Given the description of an element on the screen output the (x, y) to click on. 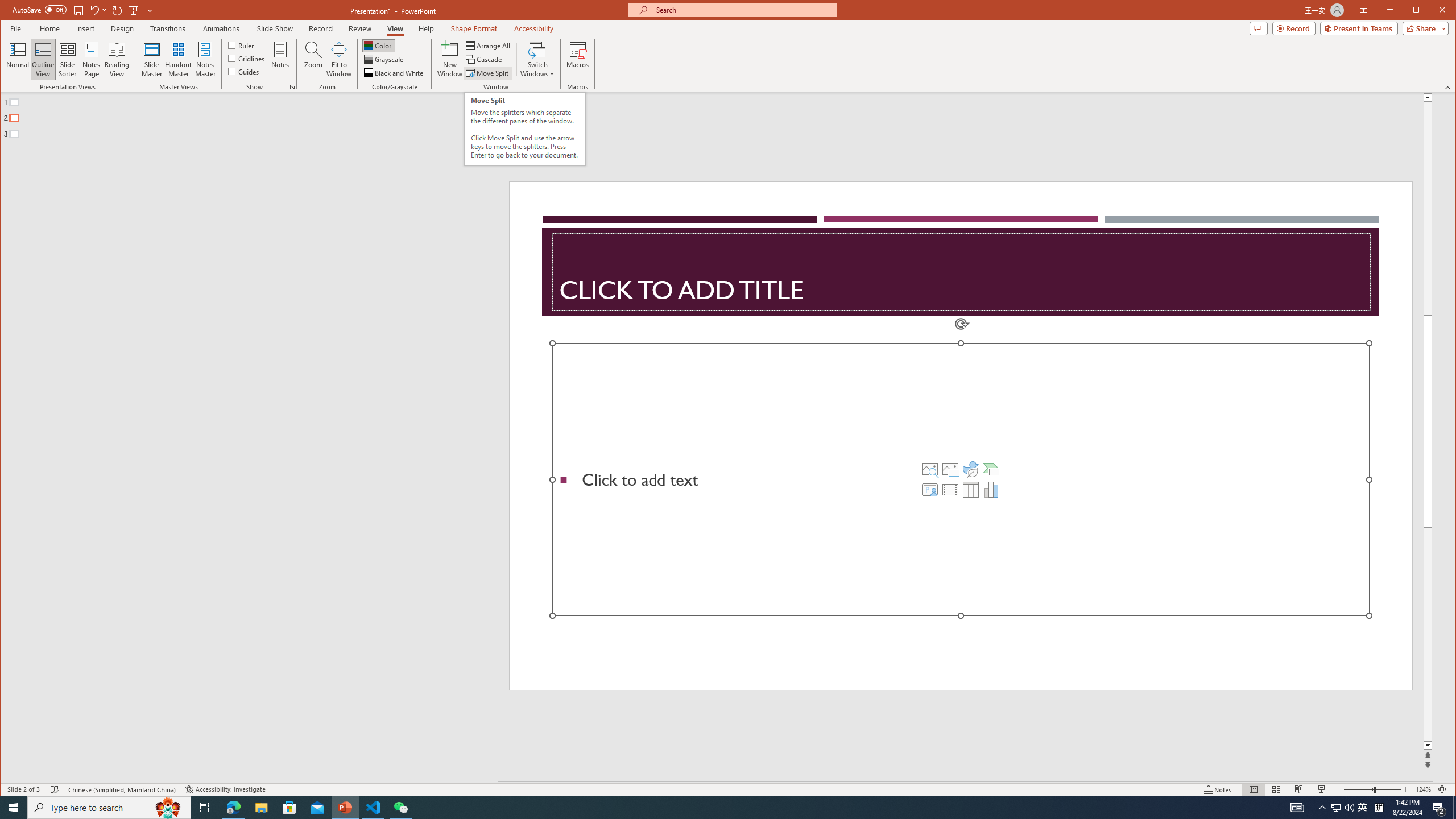
Ruler (241, 44)
Gridlines (246, 57)
Zoom 124% (1422, 789)
Macros (576, 59)
Insert Cameo (929, 489)
Notes (279, 59)
